Given the description of an element on the screen output the (x, y) to click on. 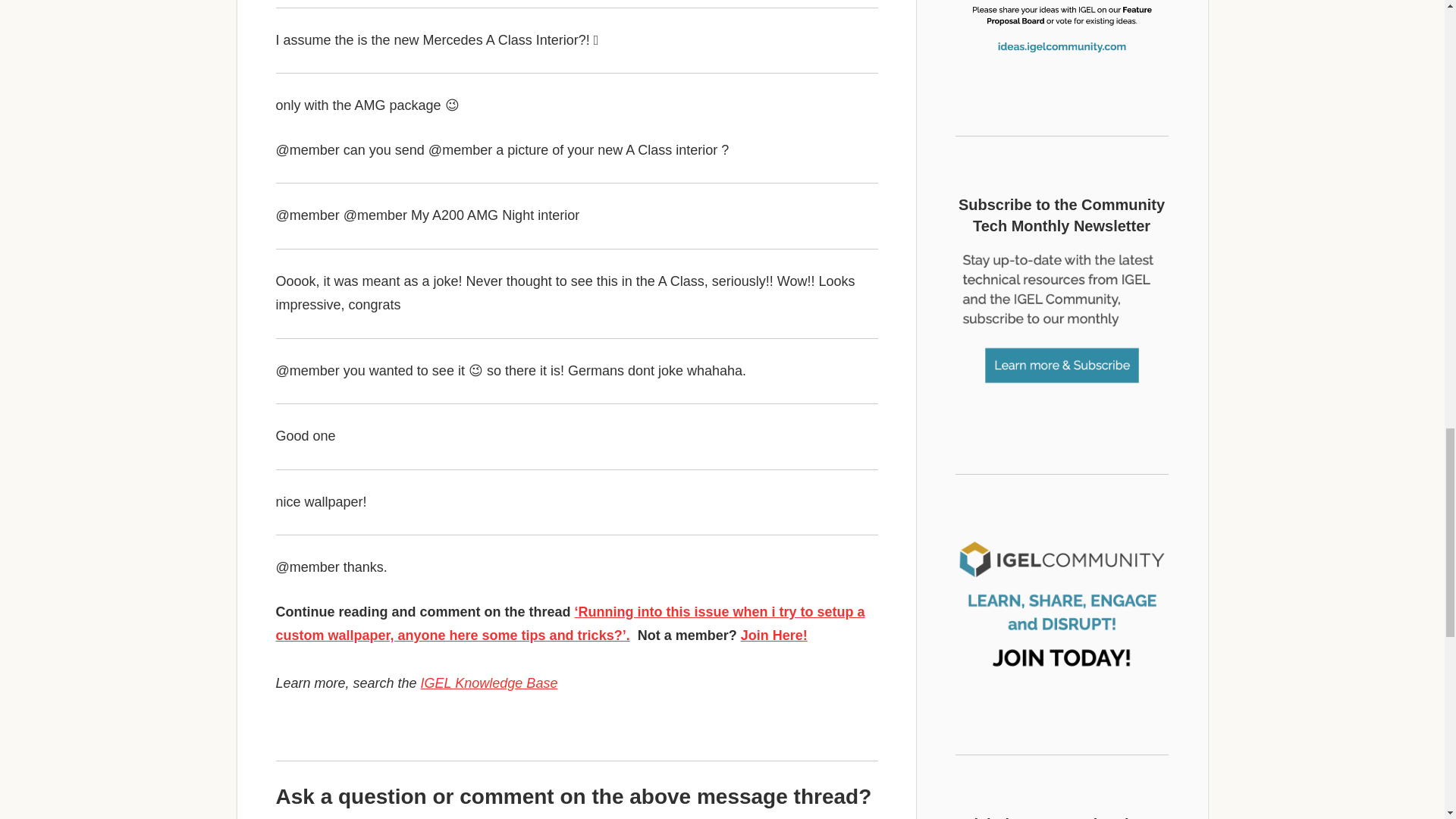
Subscribe to the Community Tech Monthly Newsletter (1062, 321)
